Given the description of an element on the screen output the (x, y) to click on. 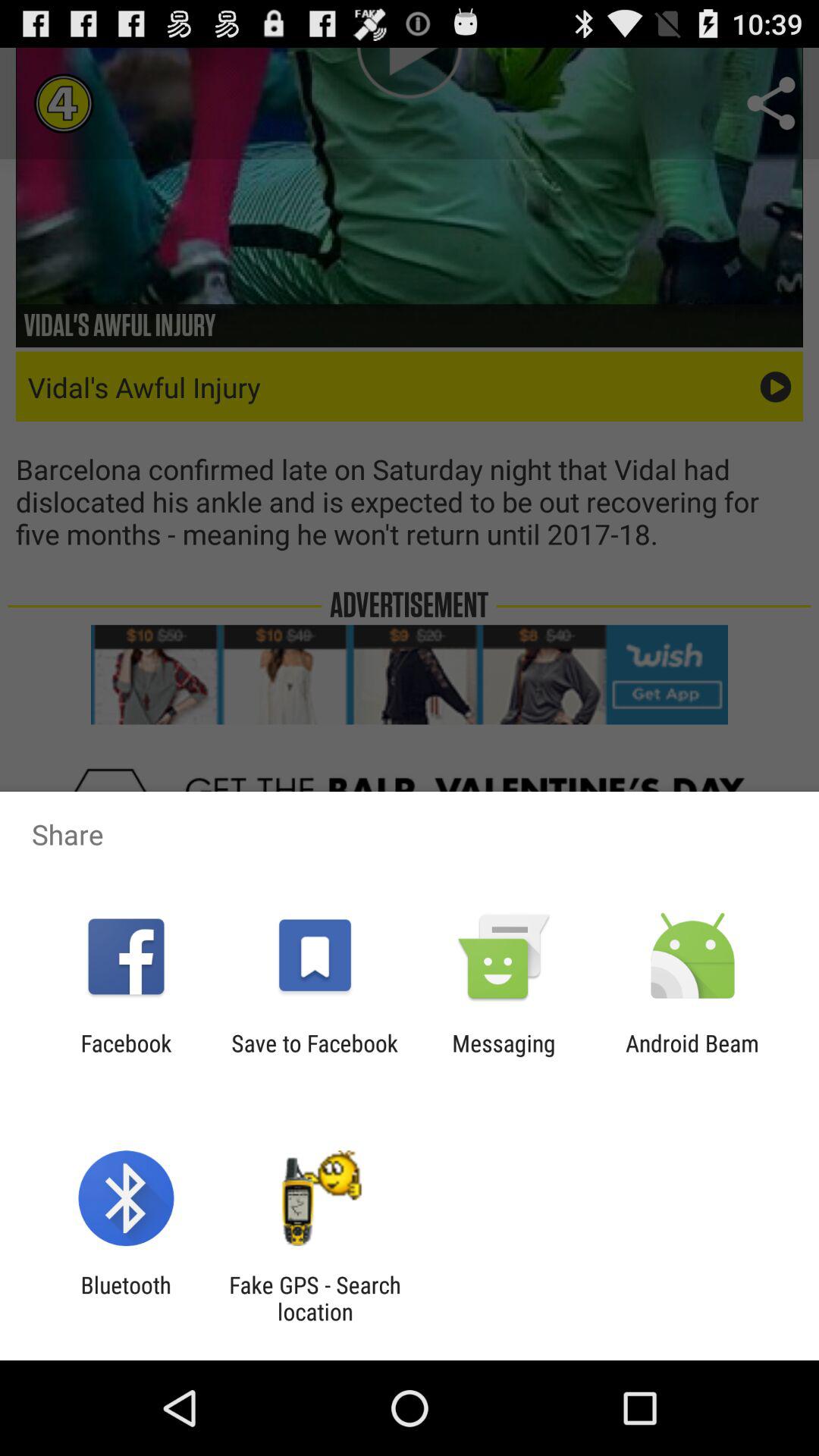
click the icon next to android beam (503, 1056)
